Given the description of an element on the screen output the (x, y) to click on. 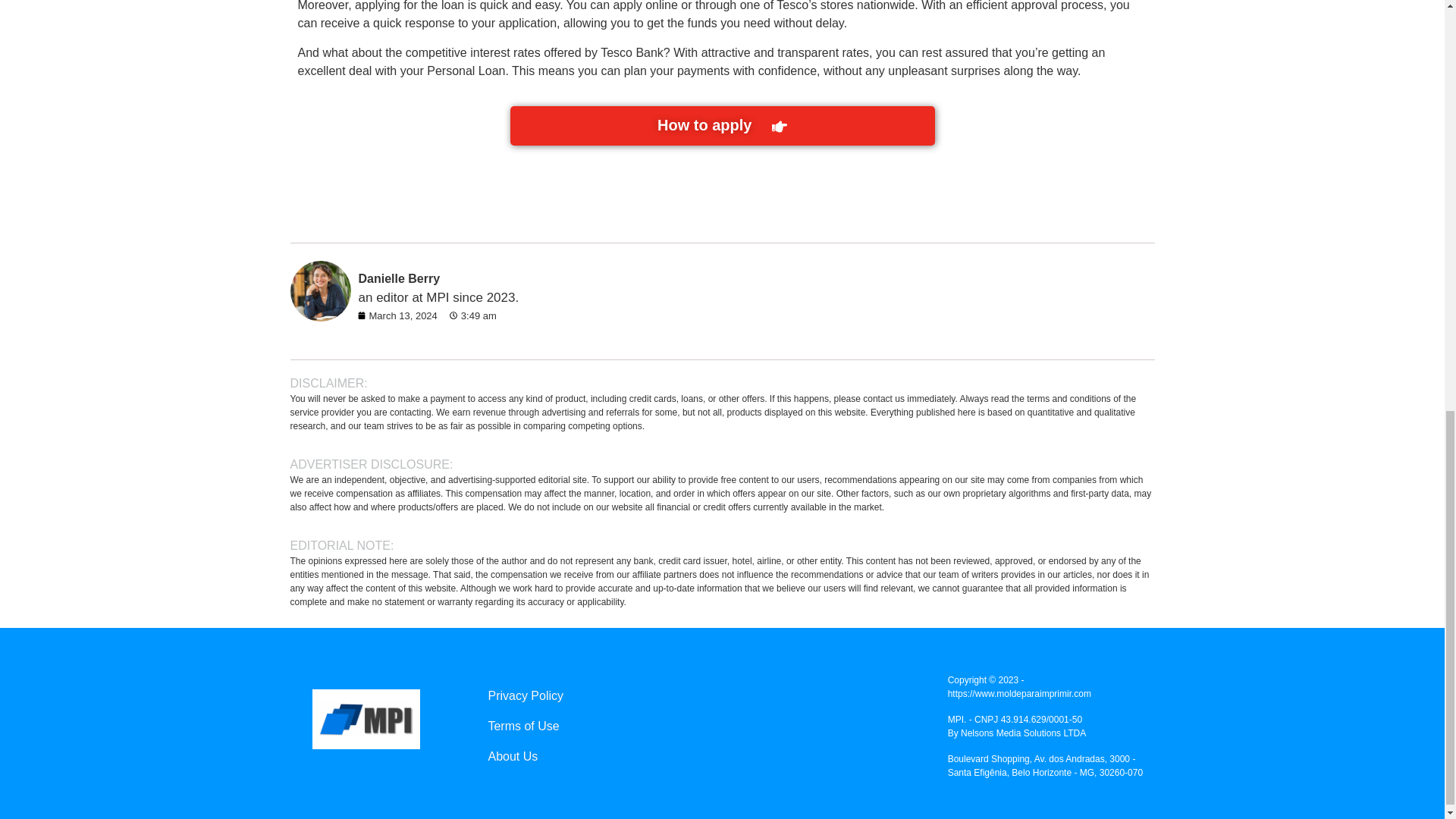
Terms of Use (709, 726)
About Us (709, 756)
How to apply (721, 125)
Privacy Policy (709, 696)
